Given the description of an element on the screen output the (x, y) to click on. 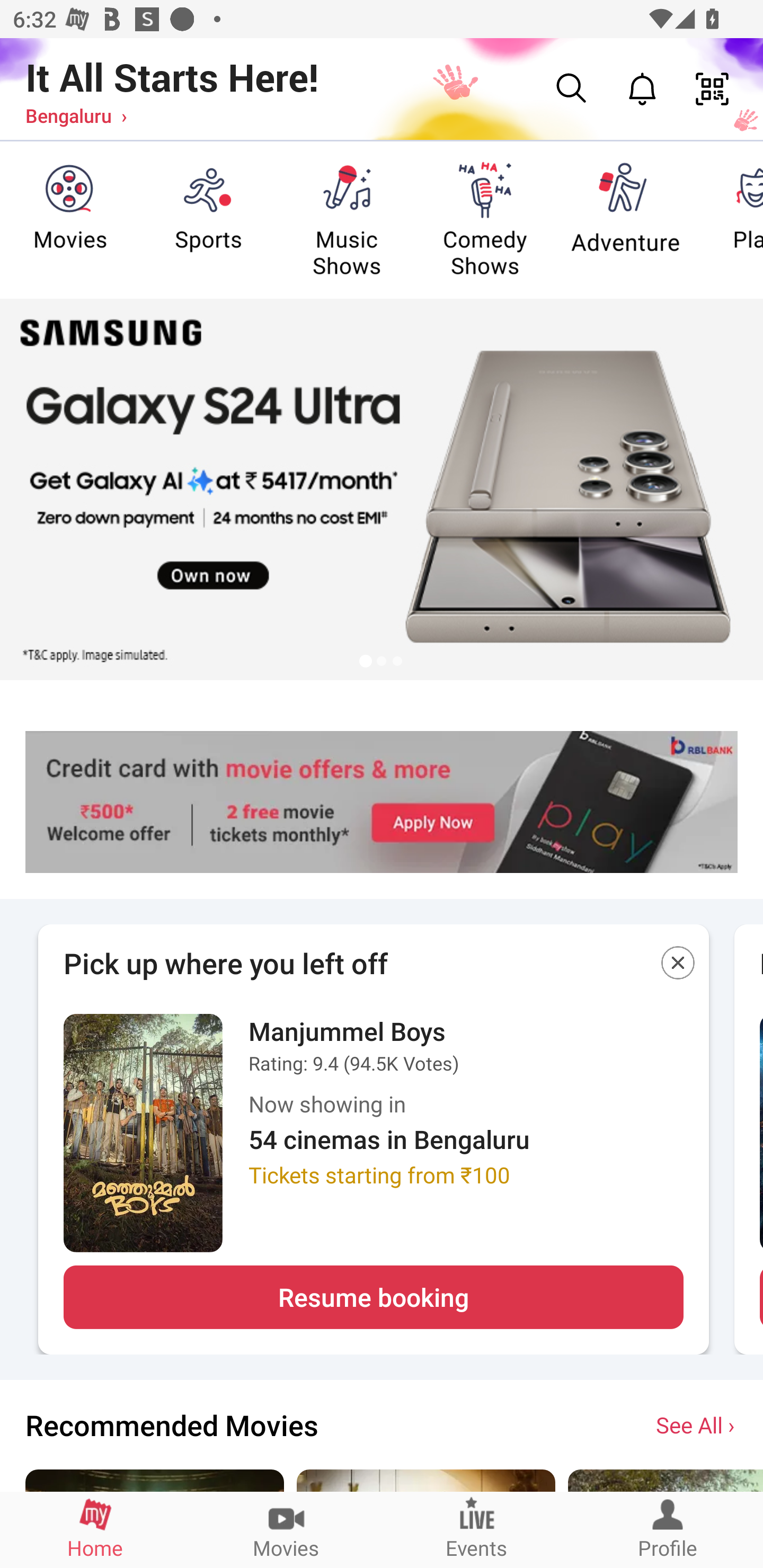
Bengaluru  › (76, 114)
  (678, 966)
Resume booking (373, 1297)
See All › (696, 1424)
Home (95, 1529)
Movies (285, 1529)
Events (476, 1529)
Profile (667, 1529)
